Given the description of an element on the screen output the (x, y) to click on. 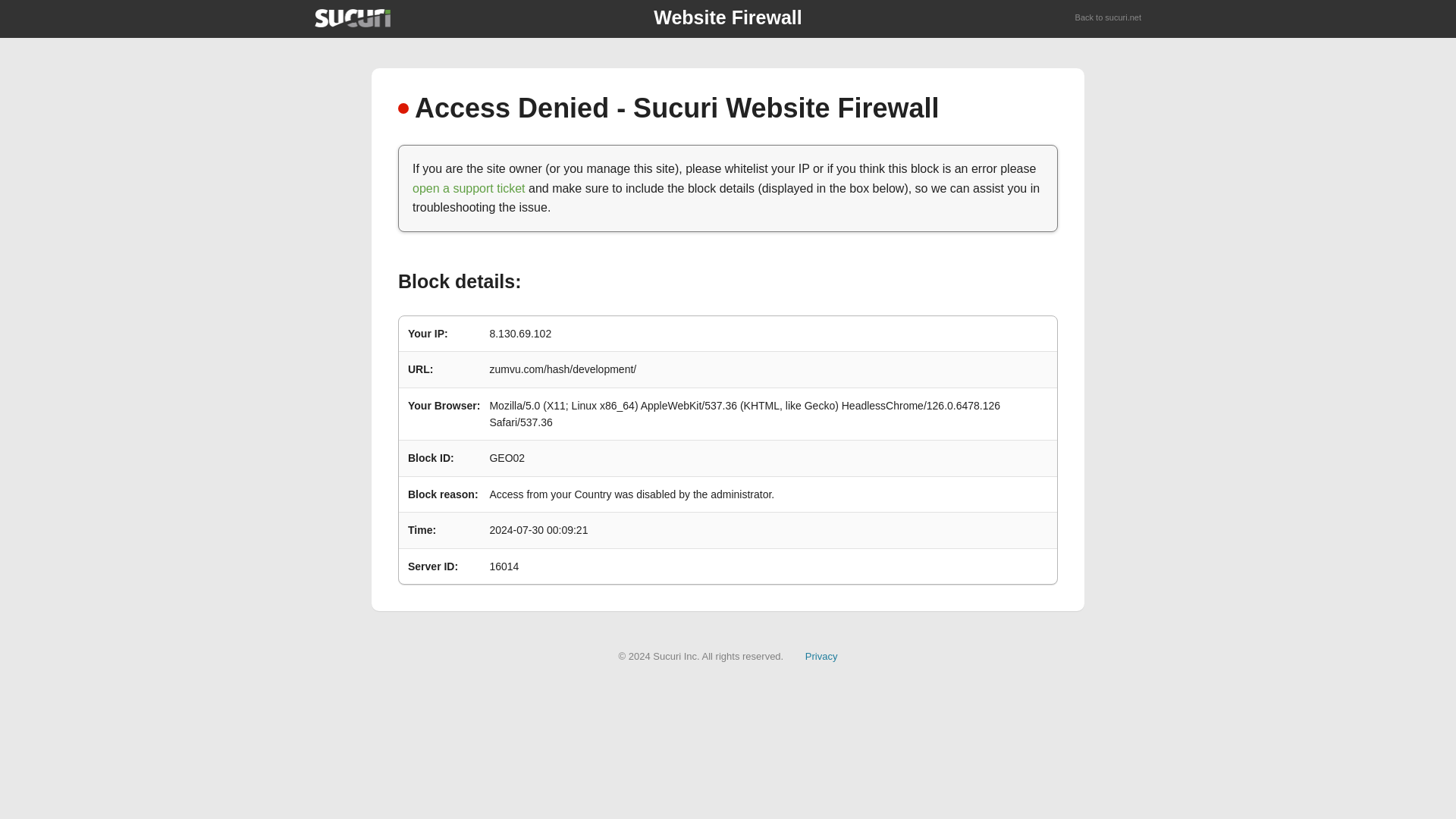
Back to sucuri.net (1108, 18)
Privacy (821, 655)
open a support ticket (468, 187)
